Given the description of an element on the screen output the (x, y) to click on. 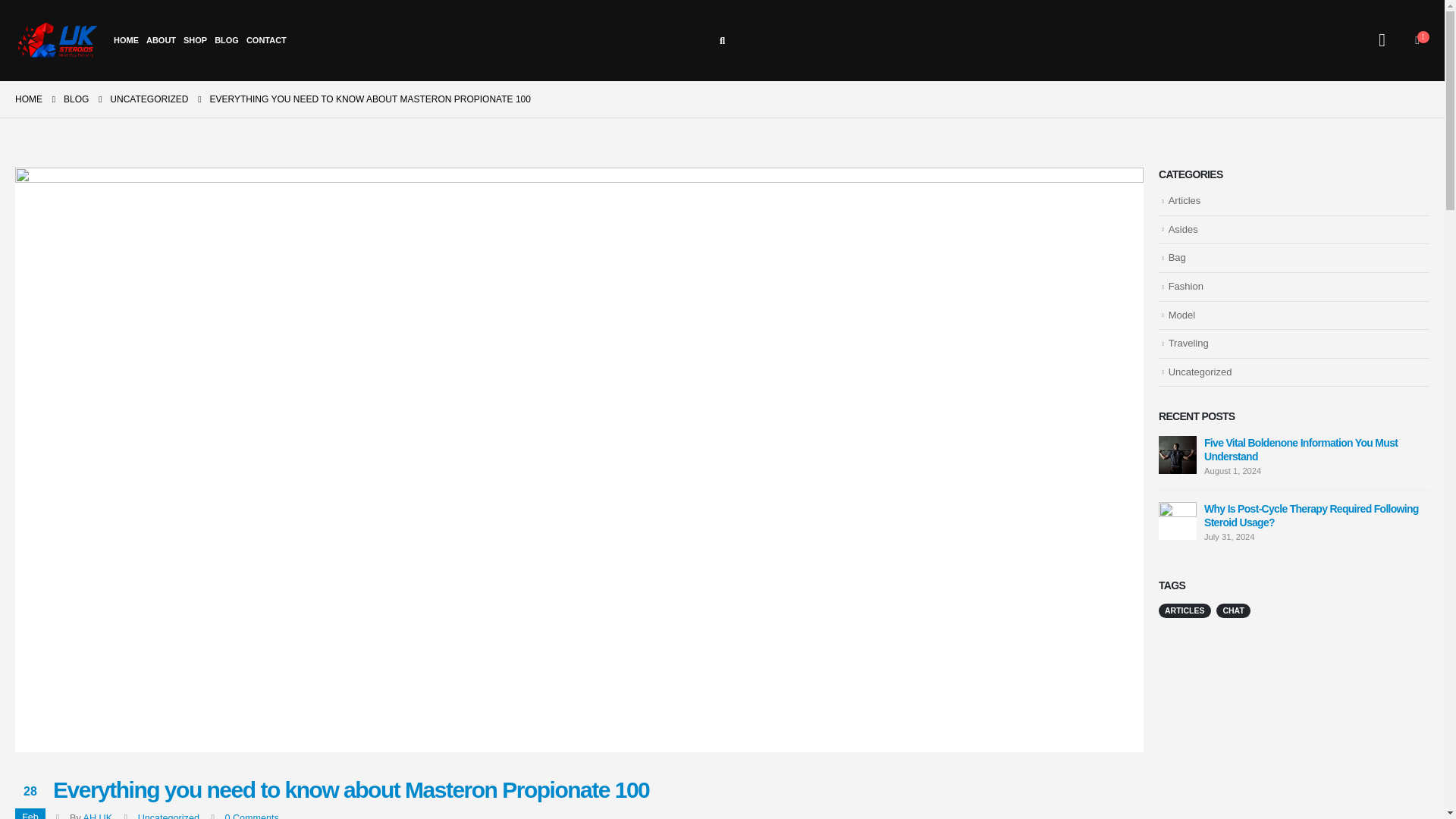
BLOG (227, 39)
SHOP (195, 39)
HOME (28, 99)
CONTACT (264, 39)
BLOG (76, 99)
My Account (1382, 40)
Posts by AH UK (97, 816)
ABOUT (160, 39)
0 Comments (252, 816)
HOME (126, 39)
UNCATEGORIZED (148, 99)
Uncategorized (168, 816)
AH UK (97, 816)
0 Comments (252, 816)
Go to Home Page (28, 99)
